Given the description of an element on the screen output the (x, y) to click on. 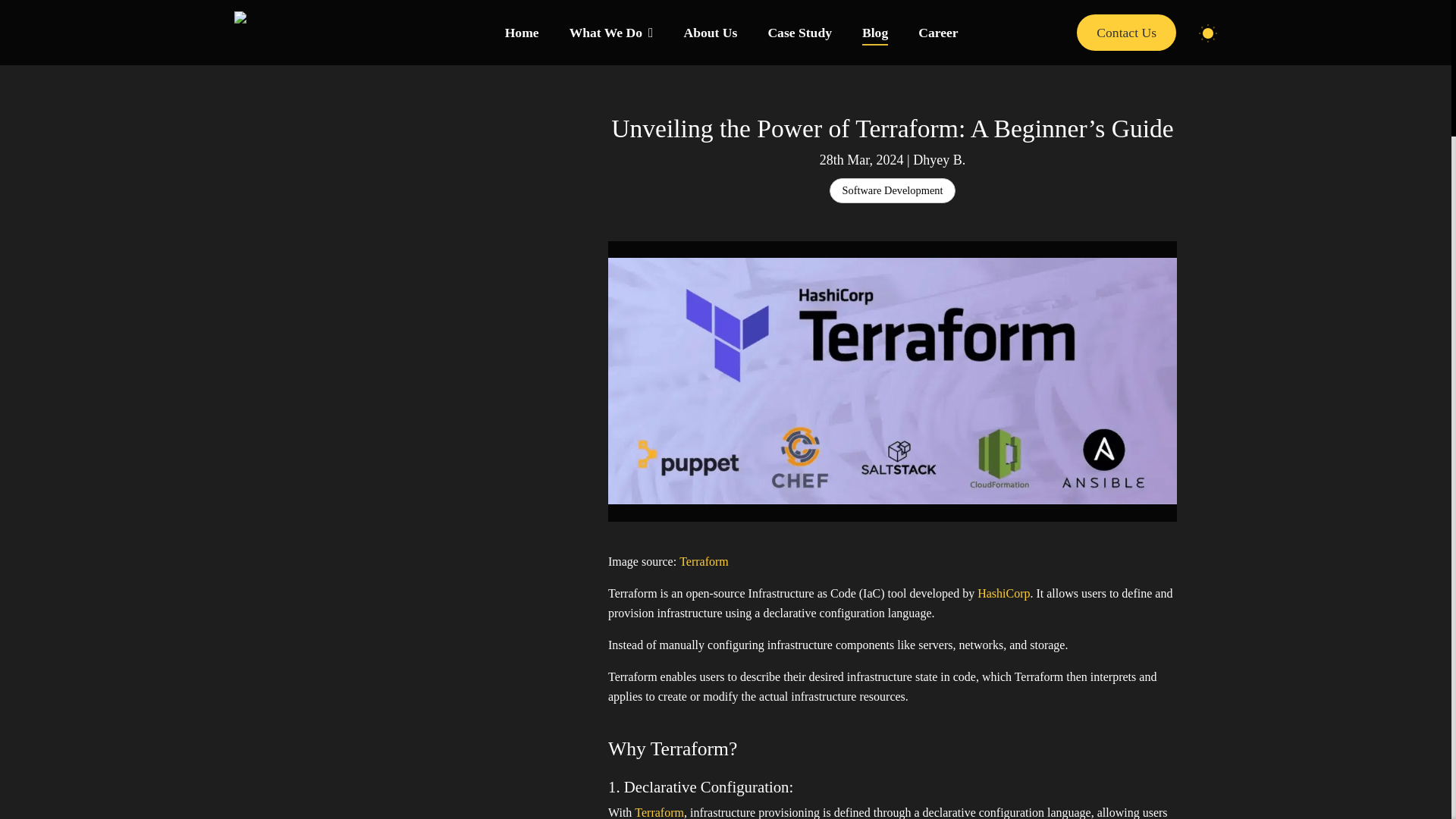
Case Study (799, 32)
Career (938, 32)
About Us (711, 32)
Blog (874, 32)
Home (521, 32)
What We Do (611, 32)
Contact Us (1126, 32)
Terraform (659, 811)
Terraform (704, 561)
HashiCorp (1002, 593)
